Given the description of an element on the screen output the (x, y) to click on. 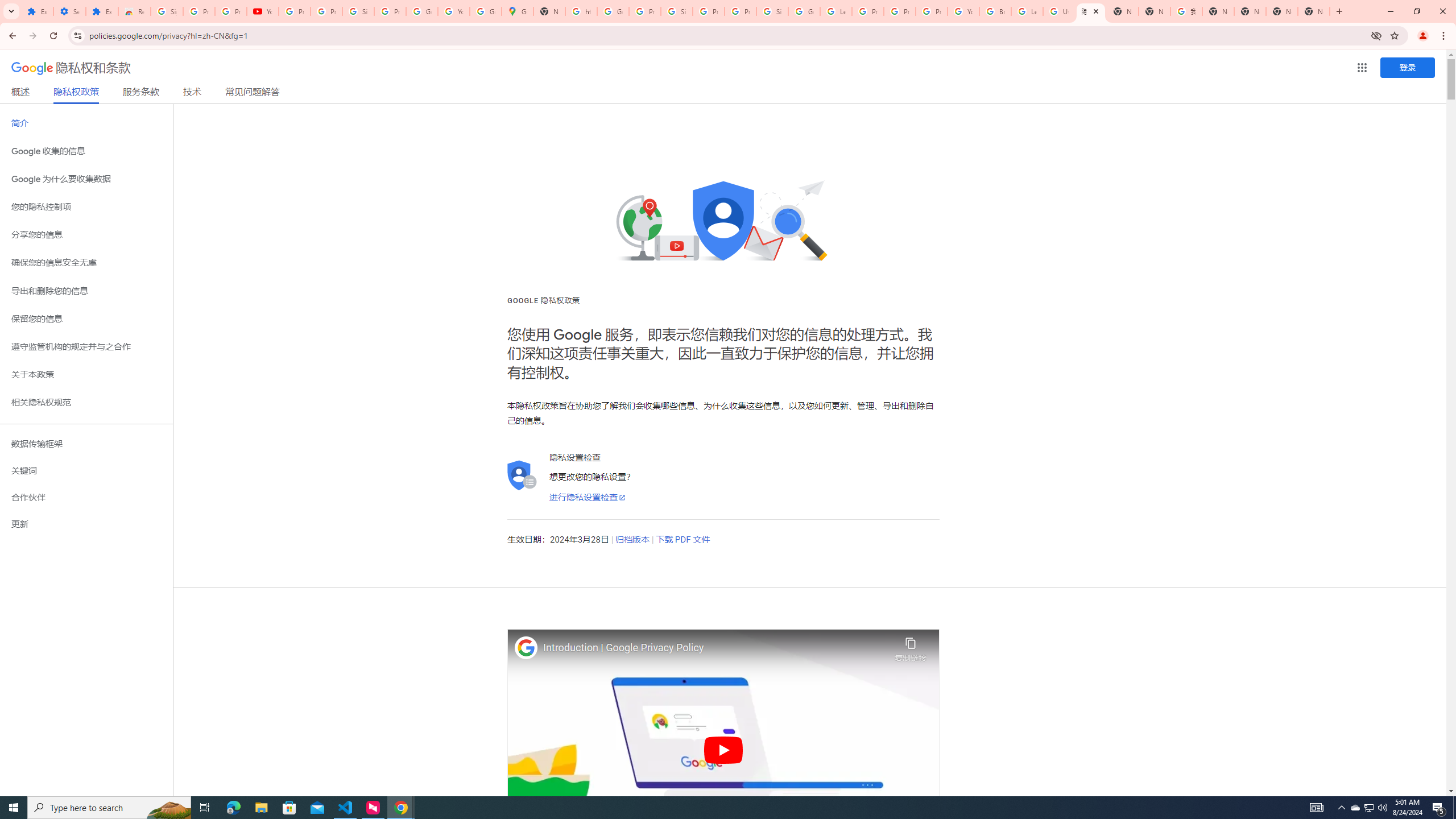
Extensions (37, 11)
Sign in - Google Accounts (676, 11)
Google Maps (517, 11)
Sign in - Google Accounts (166, 11)
YouTube (262, 11)
YouTube (963, 11)
